Given the description of an element on the screen output the (x, y) to click on. 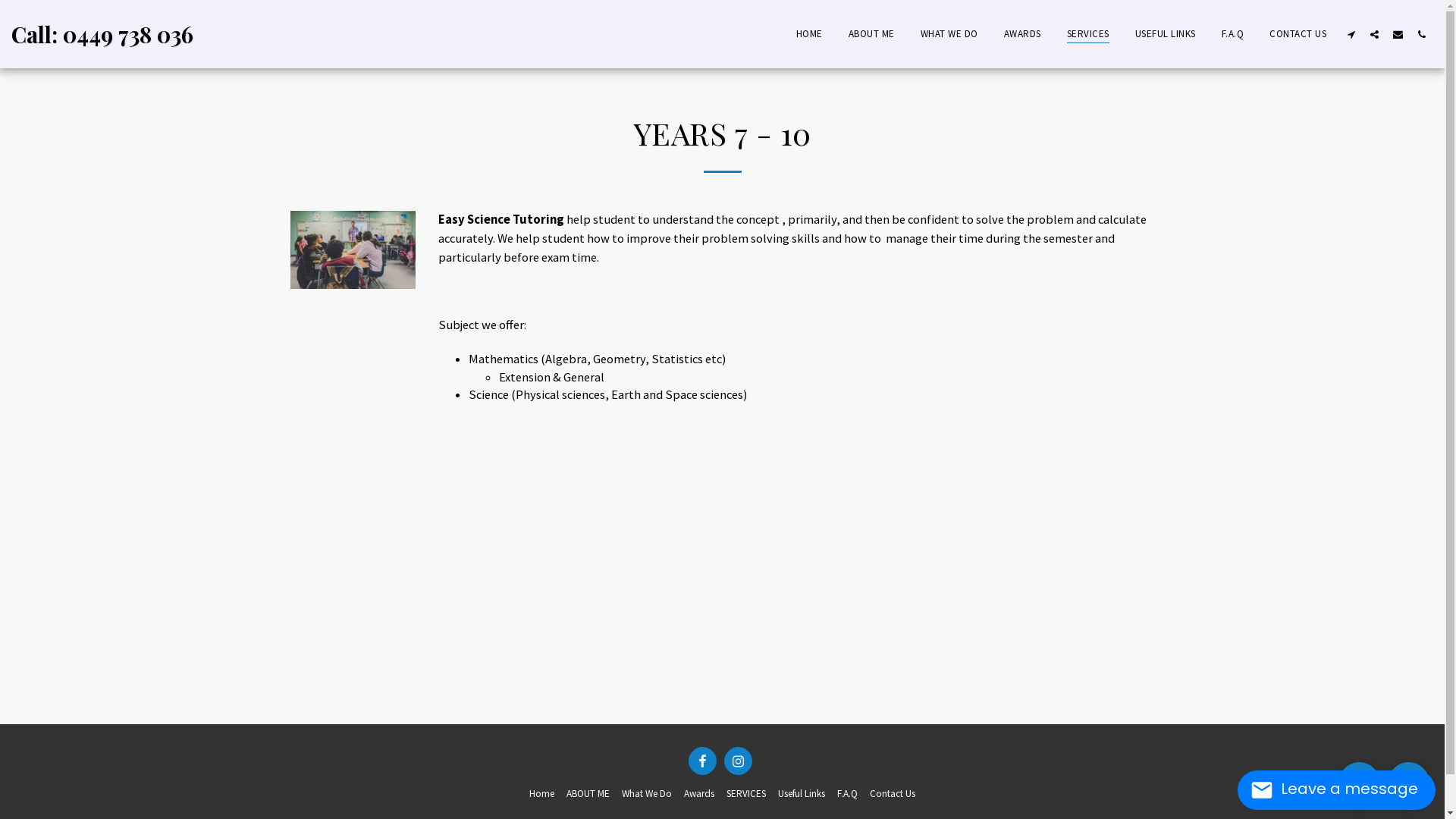
Useful Links Element type: text (801, 793)
  Element type: text (1408, 782)
F.A.Q Element type: text (847, 793)
  Element type: text (738, 760)
AWARDS Element type: text (1022, 32)
SERVICES Element type: text (1087, 32)
  Element type: text (1397, 33)
  Element type: text (1350, 33)
ABOUT ME Element type: text (870, 32)
CONTACT US Element type: text (1297, 32)
SERVICES Element type: text (745, 793)
Home Element type: text (541, 793)
Awards Element type: text (699, 793)
F.A.Q Element type: text (1231, 32)
  Element type: text (1359, 782)
What We Do Element type: text (646, 793)
WHAT WE DO Element type: text (949, 32)
  Element type: text (702, 760)
USEFUL LINKS Element type: text (1164, 32)
Call: 0449 738 036 Element type: text (102, 34)
Contact Us Element type: text (892, 793)
ABOUT ME Element type: text (587, 793)
  Element type: text (1374, 33)
HOME Element type: text (809, 32)
  Element type: text (1421, 33)
